Given the description of an element on the screen output the (x, y) to click on. 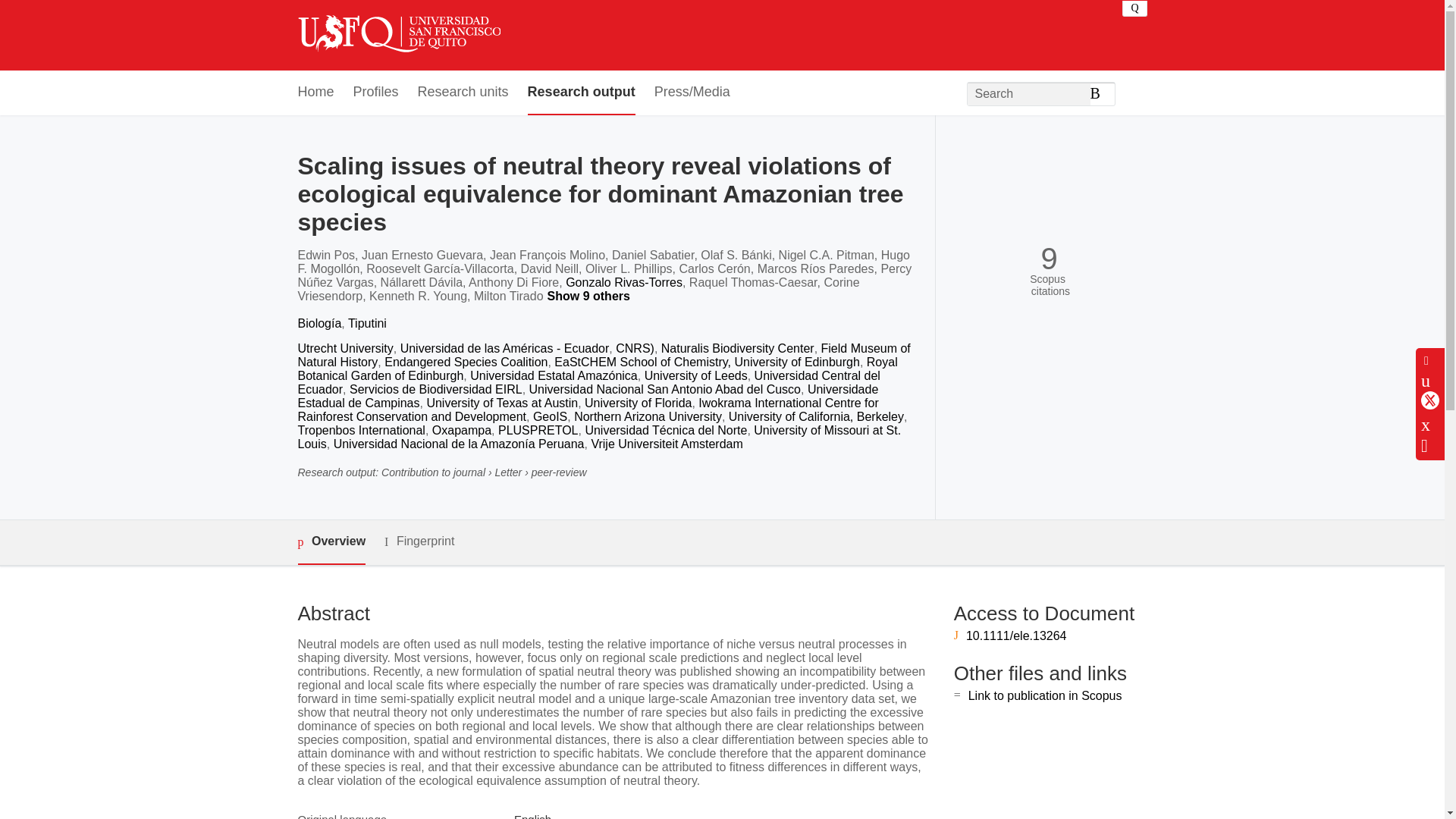
Naturalis Biodiversity Center (737, 348)
Universidad Central del Ecuador (588, 382)
Field Museum of Natural History (603, 355)
Profiles (375, 92)
Research units (462, 92)
Gonzalo Rivas-Torres (624, 282)
University of Florida (638, 402)
University of California, Berkeley (816, 416)
Northern Arizona University (647, 416)
Tropenbos International (361, 430)
University of Leeds (696, 375)
Servicios de Biodiversidad EIRL (435, 389)
Oxapampa (462, 430)
Home (315, 92)
Royal Botanical Garden of Edinburgh (596, 368)
